Given the description of an element on the screen output the (x, y) to click on. 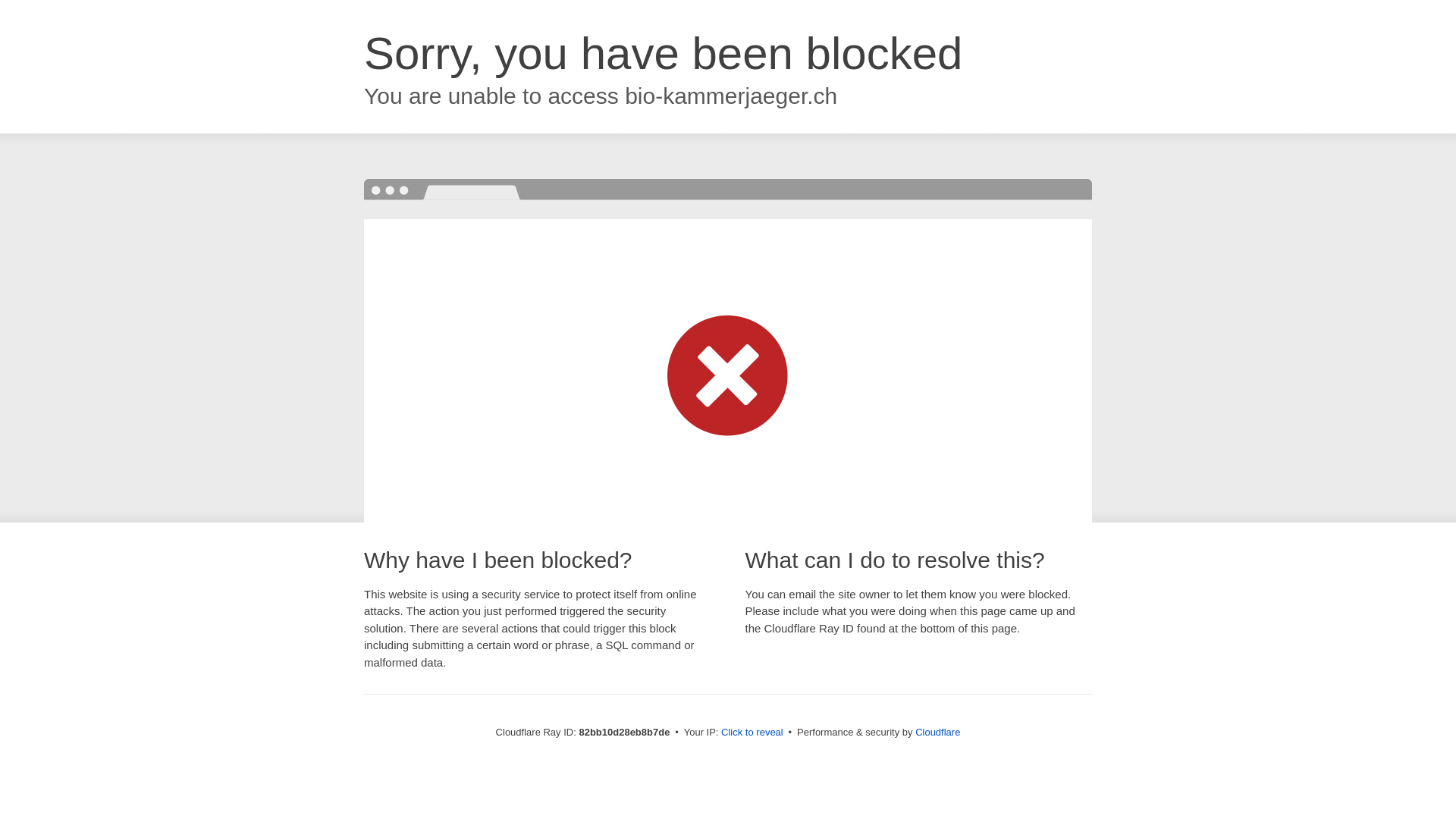
Click to reveal Element type: text (752, 732)
Cloudflare Element type: text (937, 731)
